Given the description of an element on the screen output the (x, y) to click on. 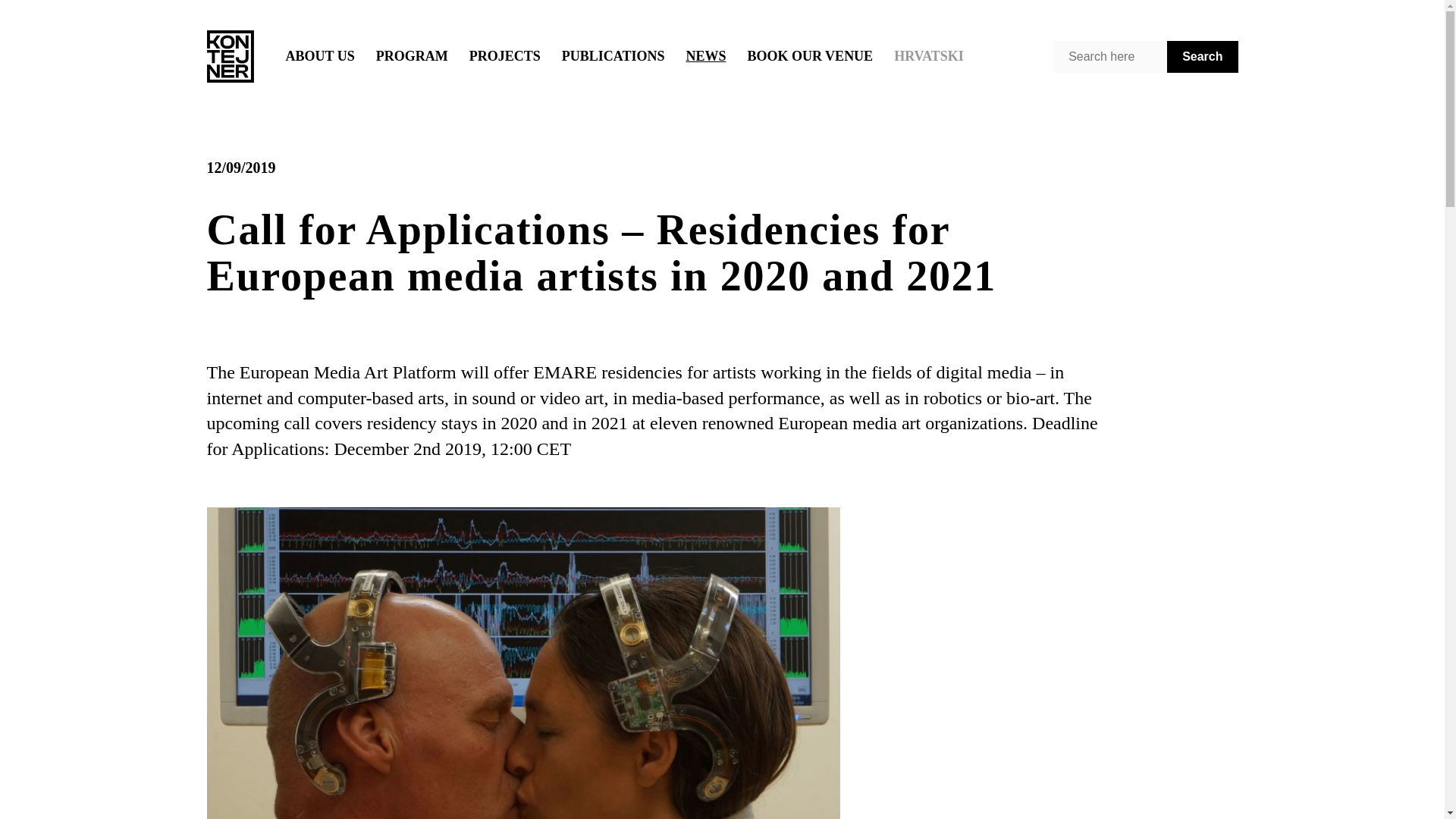
NEWS (706, 55)
PROGRAM (411, 55)
Hrvatski (928, 55)
HRVATSKI (928, 55)
BOOK OUR VENUE (810, 55)
PUBLICATIONS (613, 55)
Search (1202, 56)
PROJECTS (505, 55)
ABOUT US (319, 55)
Kontejner (229, 56)
